Given the description of an element on the screen output the (x, y) to click on. 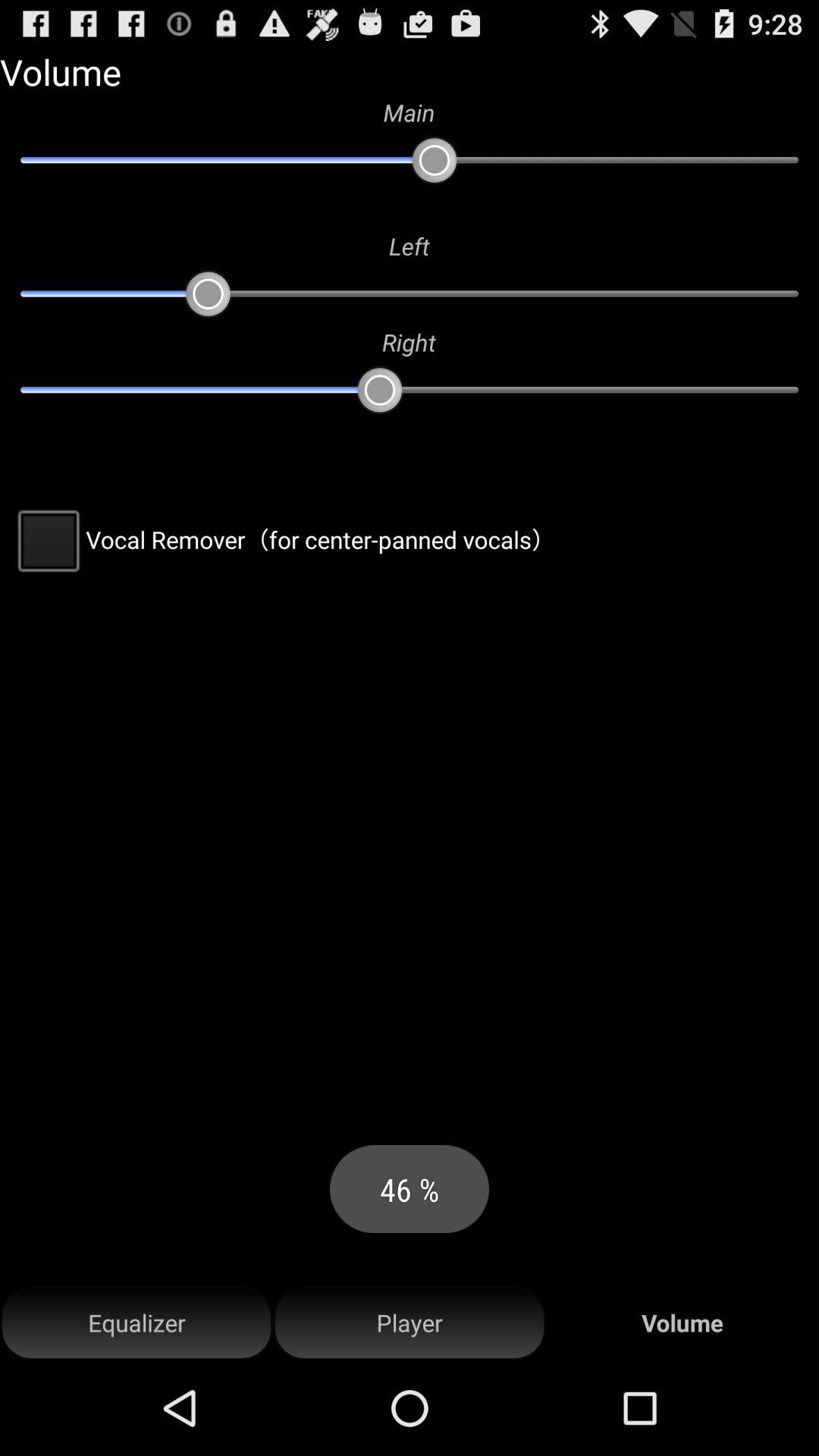
click the button above the equalizer (282, 539)
